Given the description of an element on the screen output the (x, y) to click on. 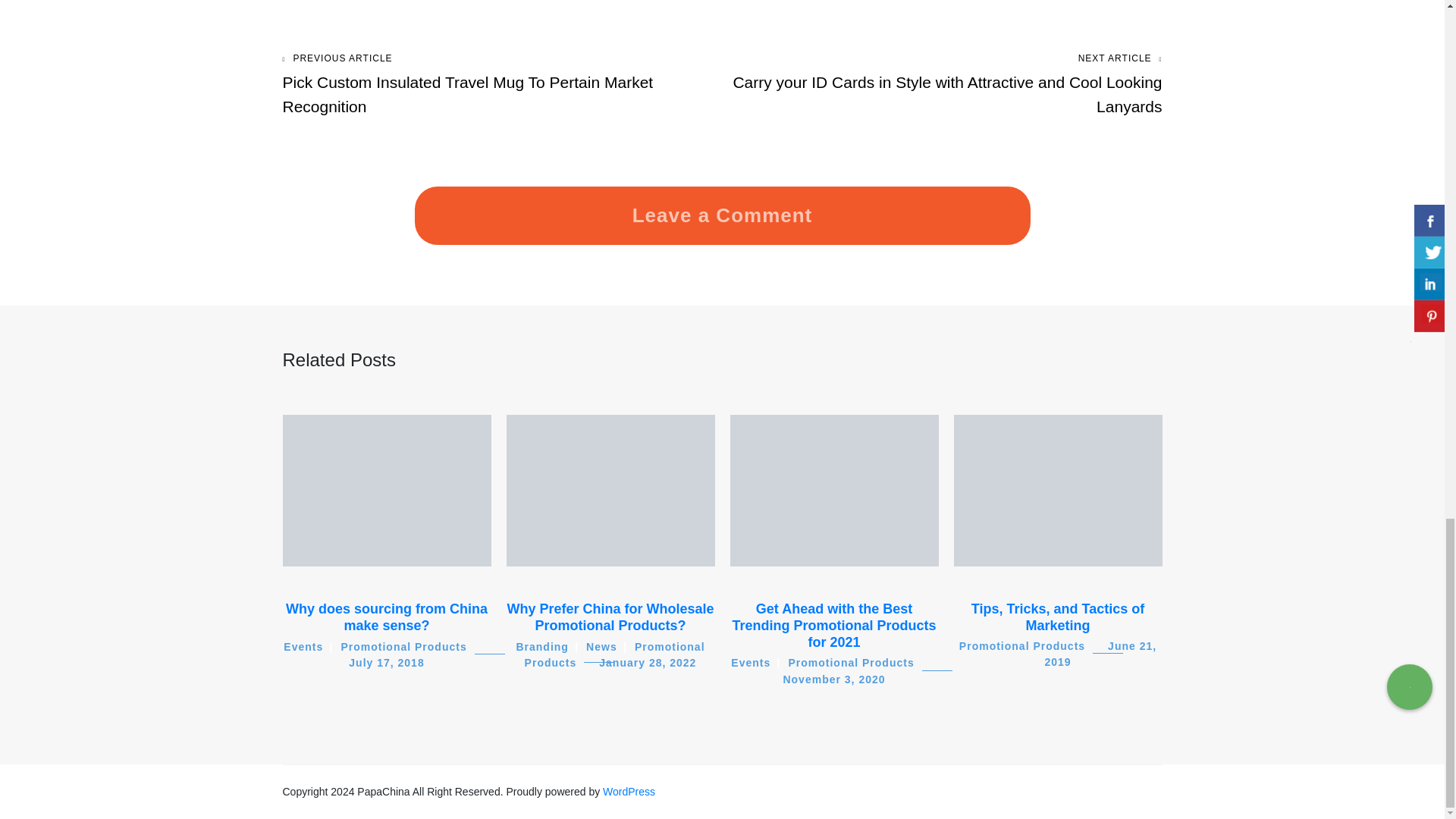
Leave a Comment (721, 215)
